Given the description of an element on the screen output the (x, y) to click on. 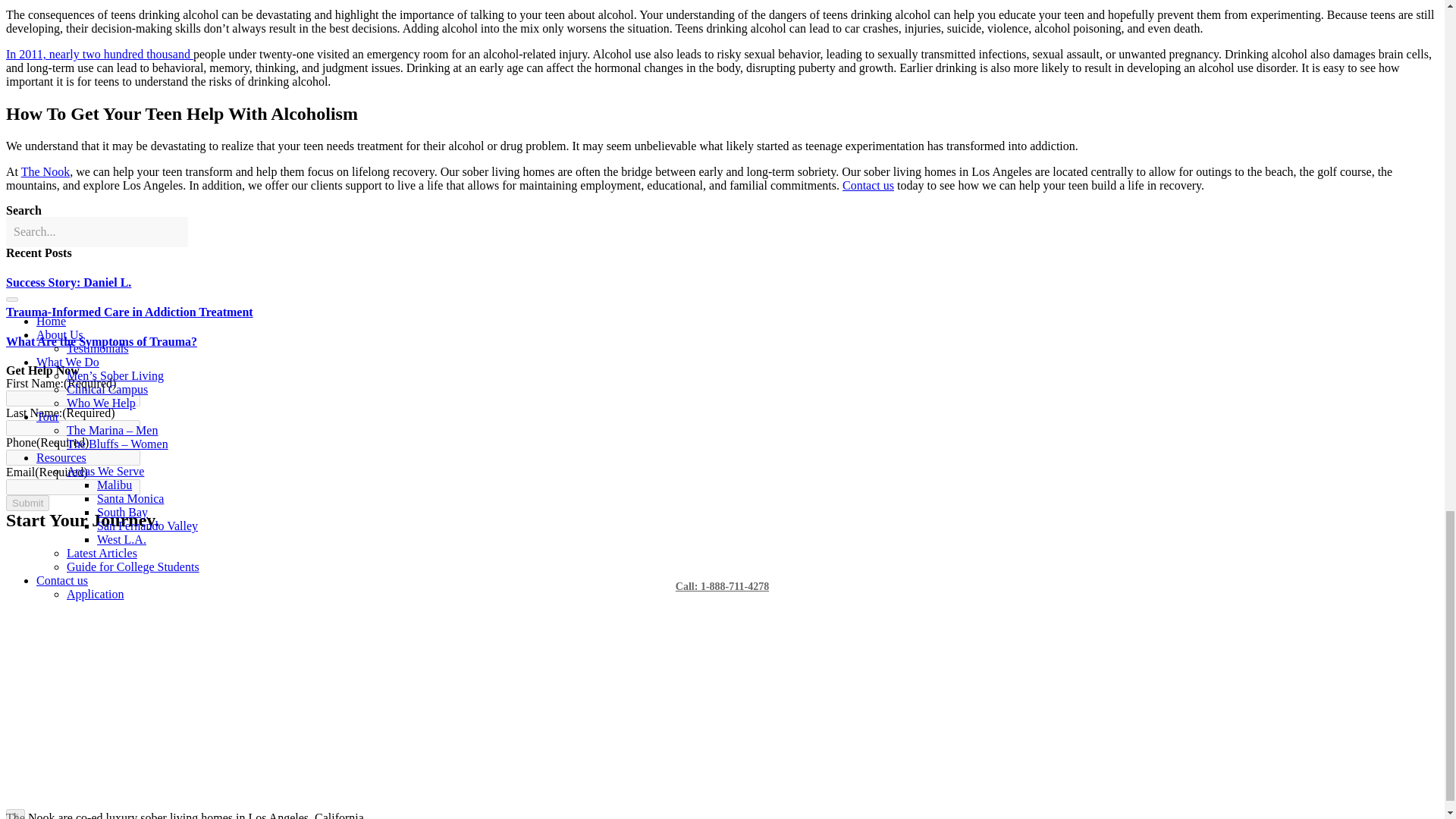
Search (96, 232)
Submit (27, 503)
